Given the description of an element on the screen output the (x, y) to click on. 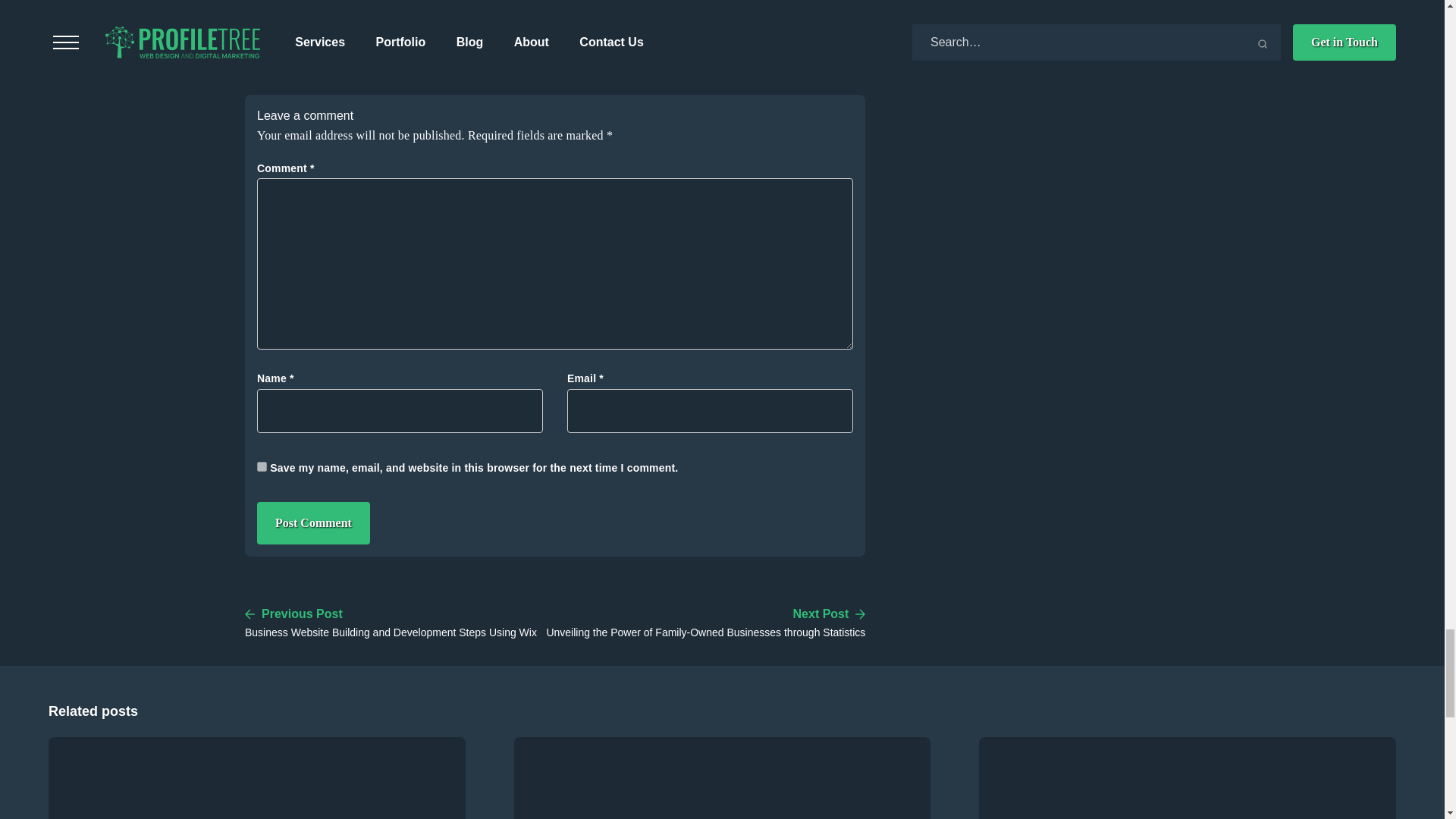
Post Comment (313, 523)
Shopify offers a fully customised theme (349, 10)
build your business (677, 30)
yes (261, 466)
